Given the description of an element on the screen output the (x, y) to click on. 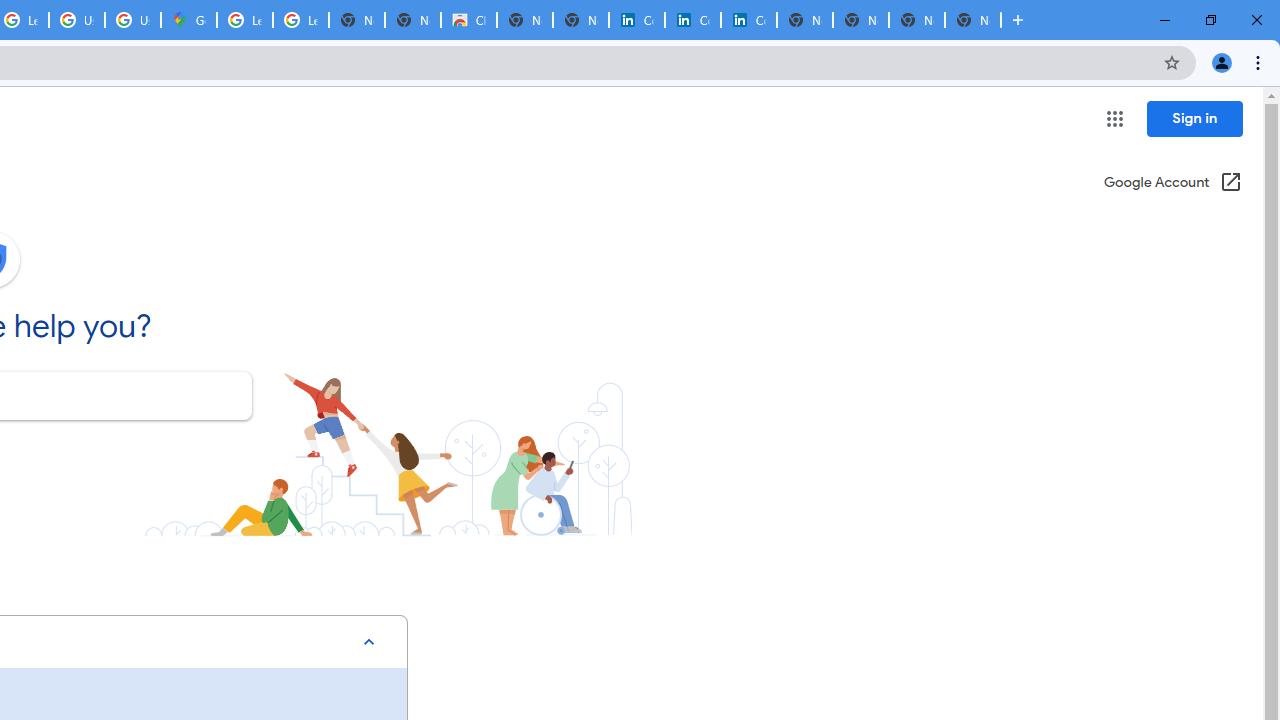
Google Maps (189, 20)
